Given the description of an element on the screen output the (x, y) to click on. 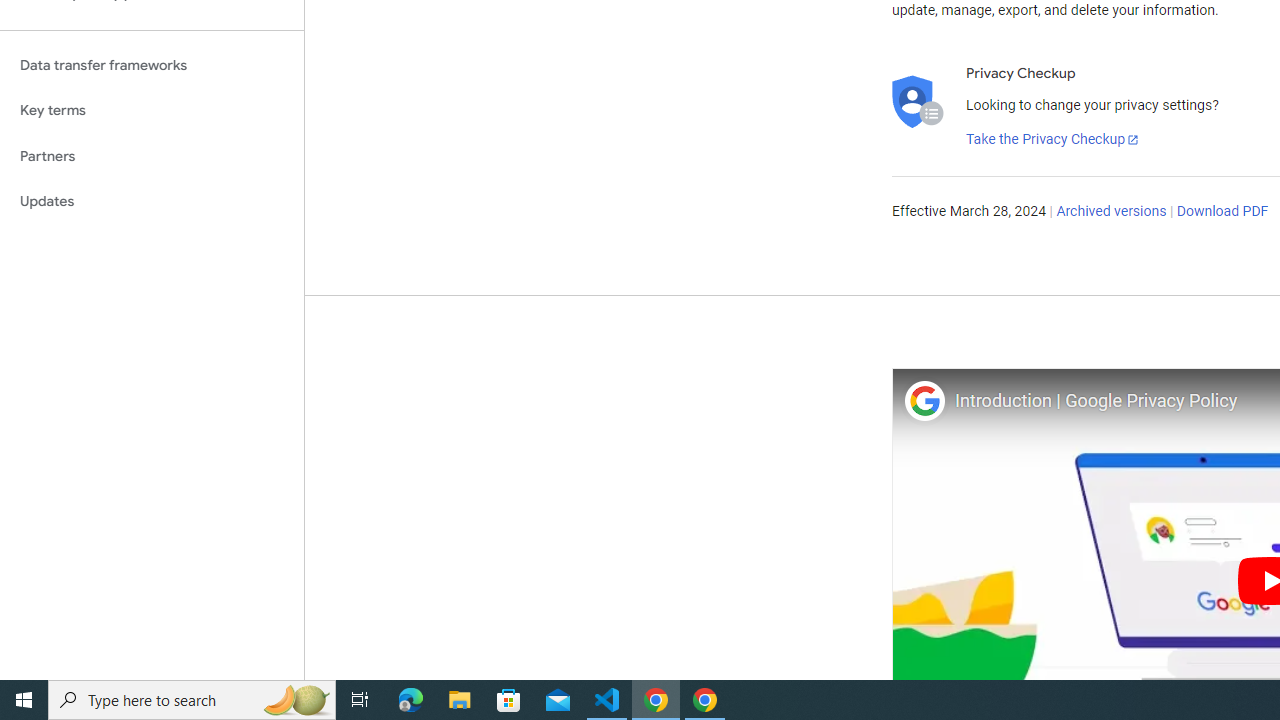
Take the Privacy Checkup (1053, 140)
Download PDF (1222, 212)
Key terms (152, 110)
Archived versions (1111, 212)
Data transfer frameworks (152, 65)
Partners (152, 156)
Photo image of Google (924, 400)
